Given the description of an element on the screen output the (x, y) to click on. 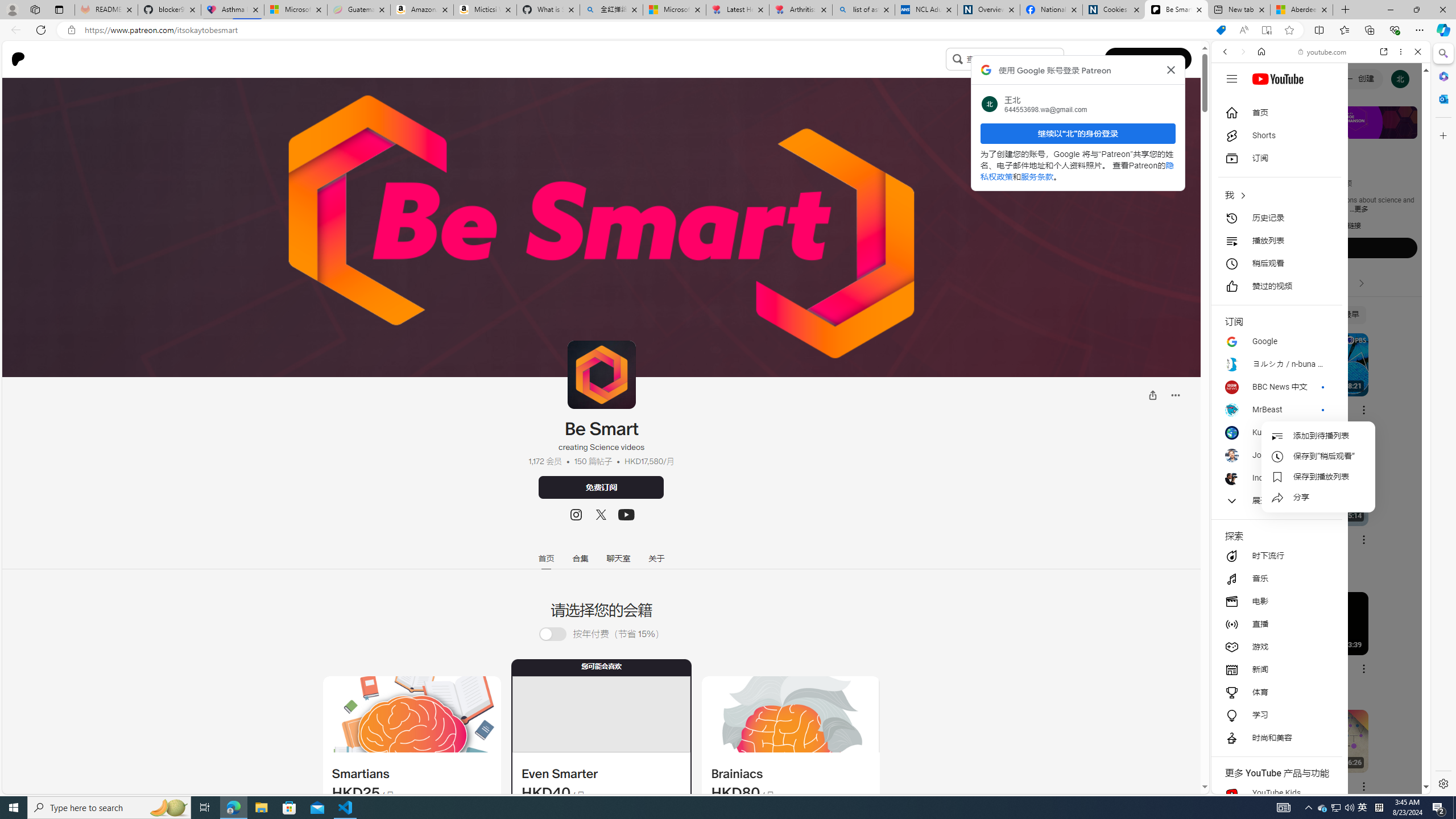
Show More Music (1390, 310)
VIDEOS (1300, 130)
